Given the description of an element on the screen output the (x, y) to click on. 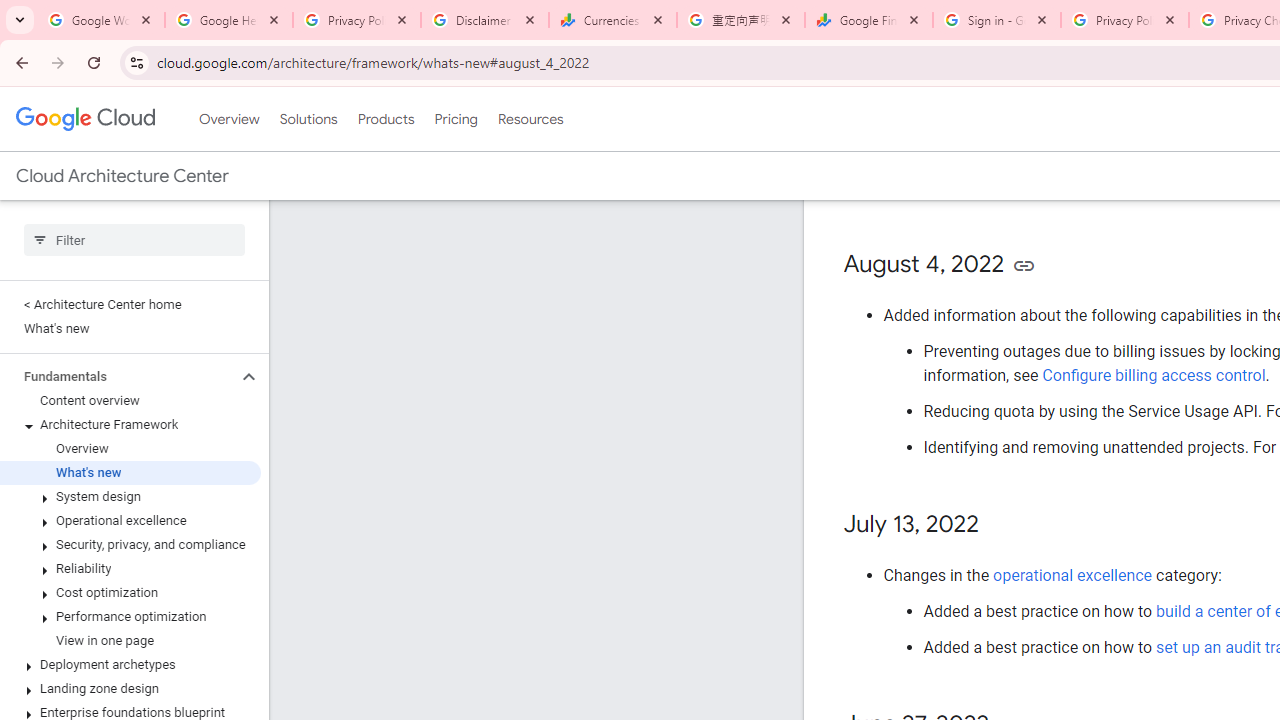
core principles of system design (1088, 151)
Google Workspace Admin Community (101, 20)
Landing zone design (130, 688)
Architecture Framework (130, 425)
Cloud Architecture Center (122, 175)
Security, privacy, and compliance (130, 544)
Deployment archetypes (130, 664)
Performance optimization (130, 616)
What's new (130, 472)
